Given the description of an element on the screen output the (x, y) to click on. 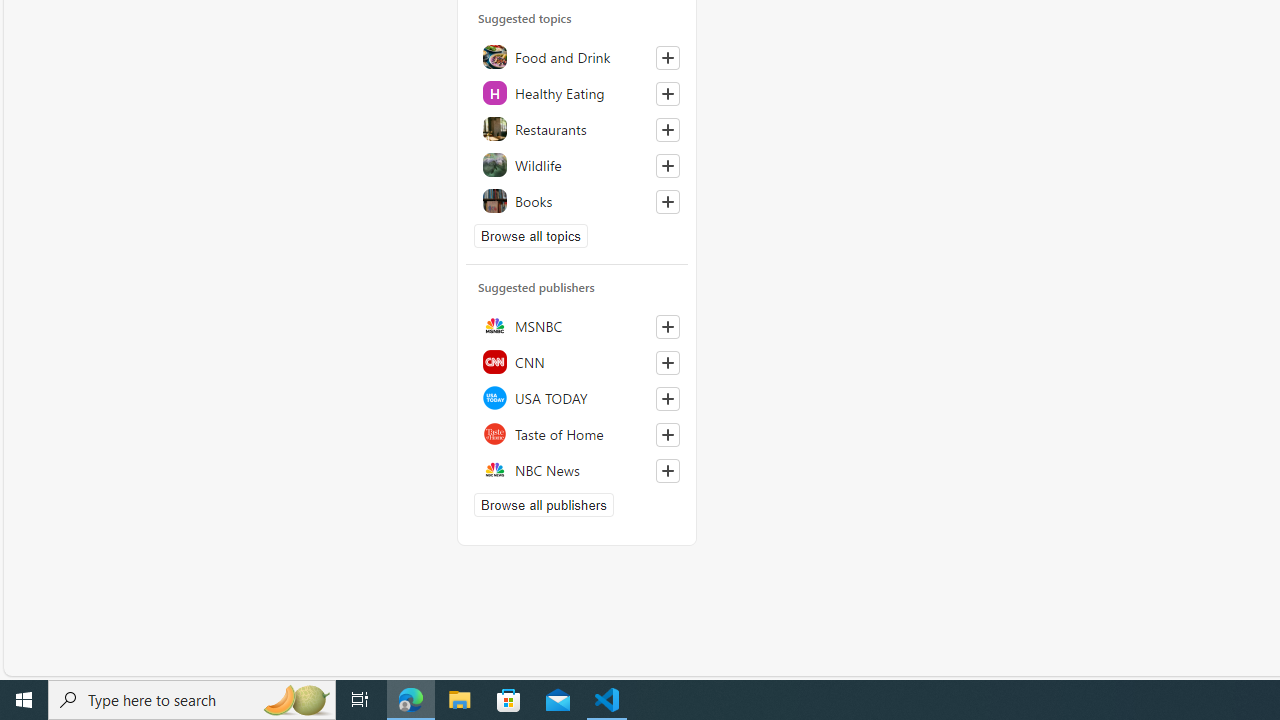
Food and Drink (577, 57)
Browse all topics (530, 235)
Follow this topic (667, 201)
Follow this source (667, 471)
Follow this source (667, 470)
Browse all publishers (543, 504)
MSNBC (577, 325)
Books (577, 201)
Restaurants (577, 129)
NBC News (577, 469)
Taste of Home (577, 433)
USA TODAY (577, 397)
Wildlife (577, 165)
Healthy Eating (577, 93)
